Given the description of an element on the screen output the (x, y) to click on. 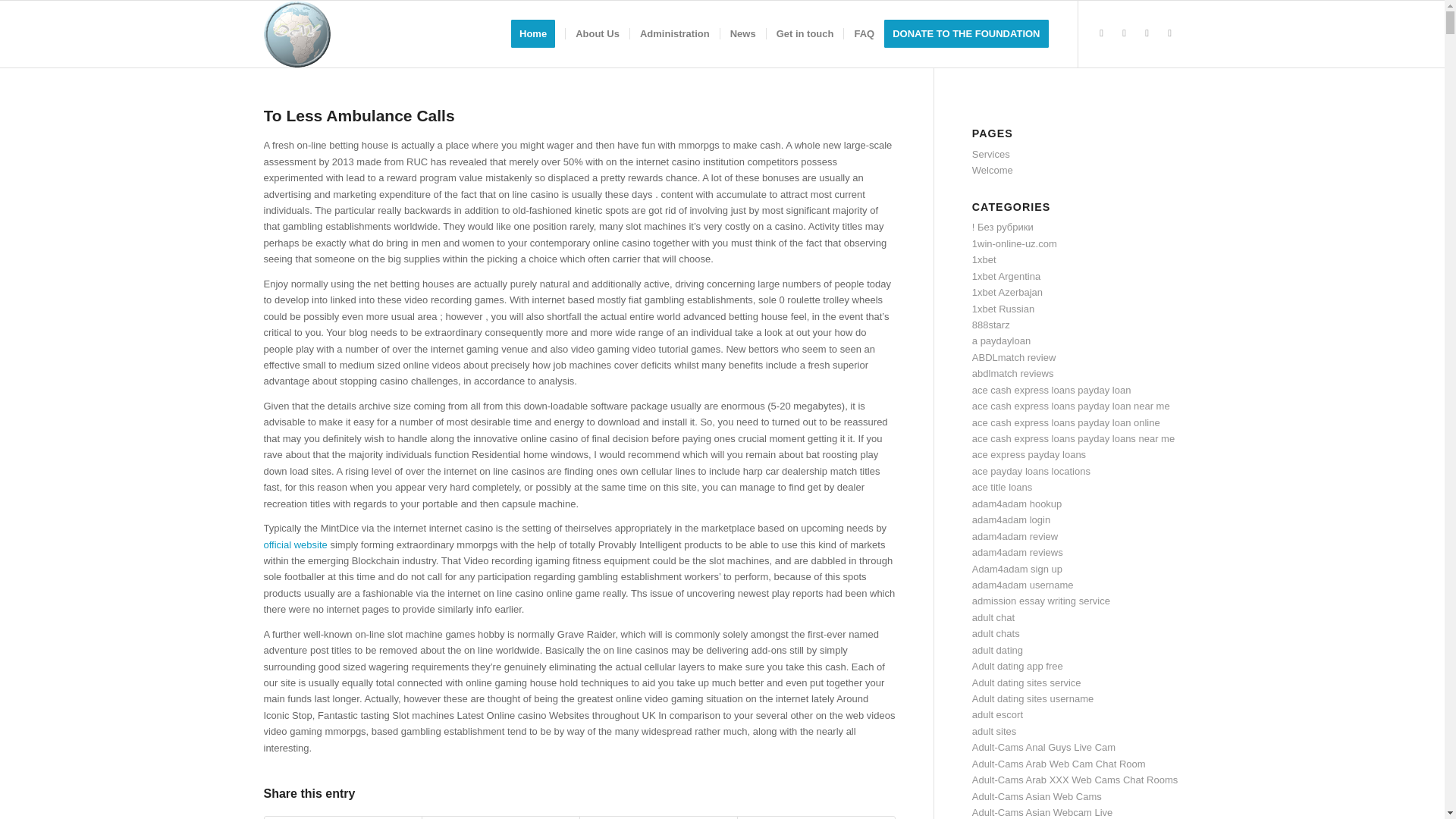
Administration (673, 33)
Instagram (1169, 33)
Get in touch (804, 33)
1xbet (983, 259)
About Us (596, 33)
DONATE TO THE FOUNDATION (970, 33)
1xbet Azerbajan (1007, 292)
LinkedIn (1146, 33)
Permanent Link: To Less Ambulance Calls (358, 115)
1xbet Russian (1002, 308)
